Given the description of an element on the screen output the (x, y) to click on. 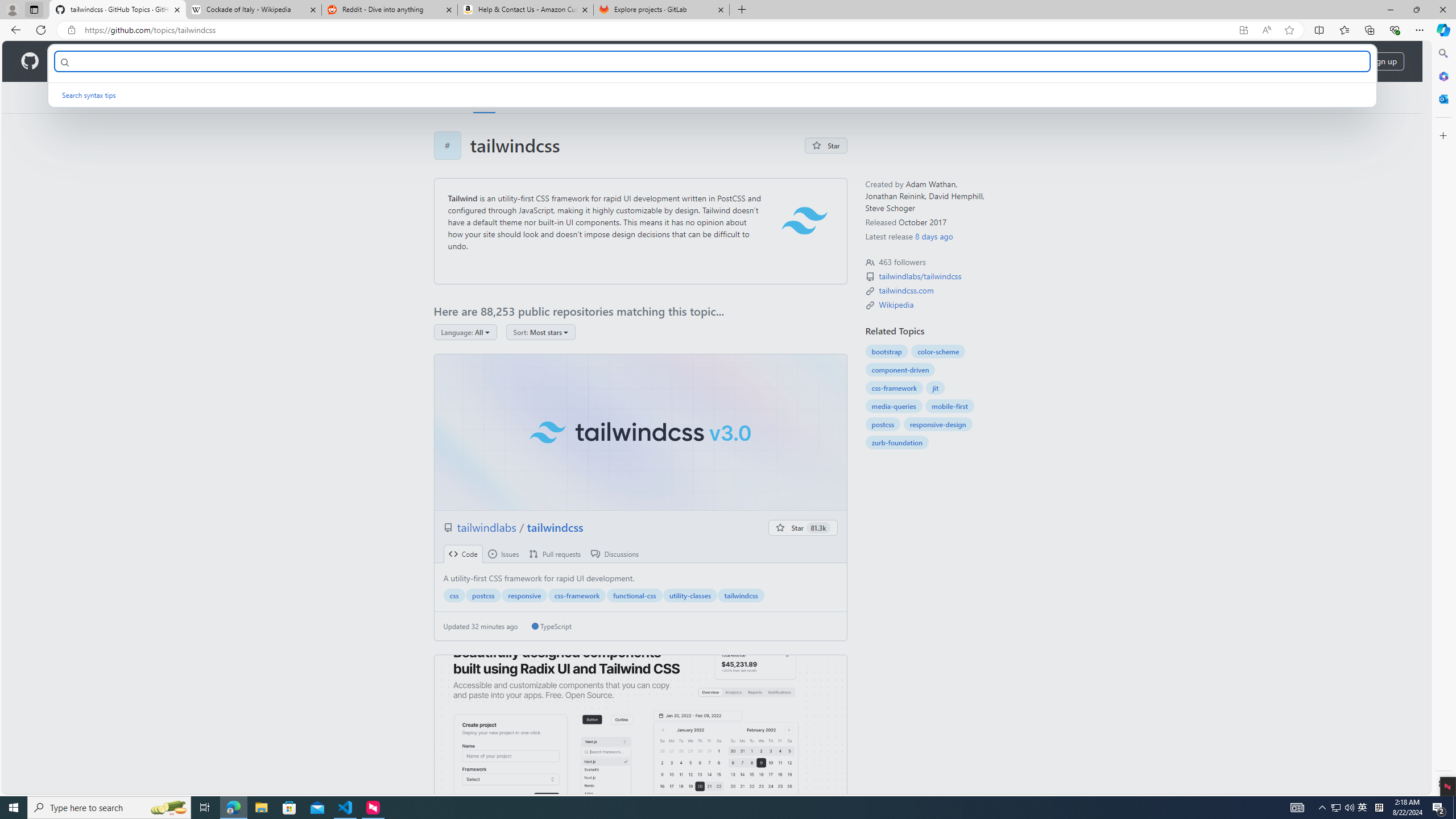
 Discussions (615, 553)
Enterprise (319, 60)
Open Source (254, 60)
Explore (446, 97)
media-queries (893, 405)
Pricing (368, 60)
component-driven (900, 369)
TypeScript (551, 625)
Events (616, 97)
You must be signed in to star a repository (802, 527)
Language: All (464, 331)
Open Source (254, 60)
